Given the description of an element on the screen output the (x, y) to click on. 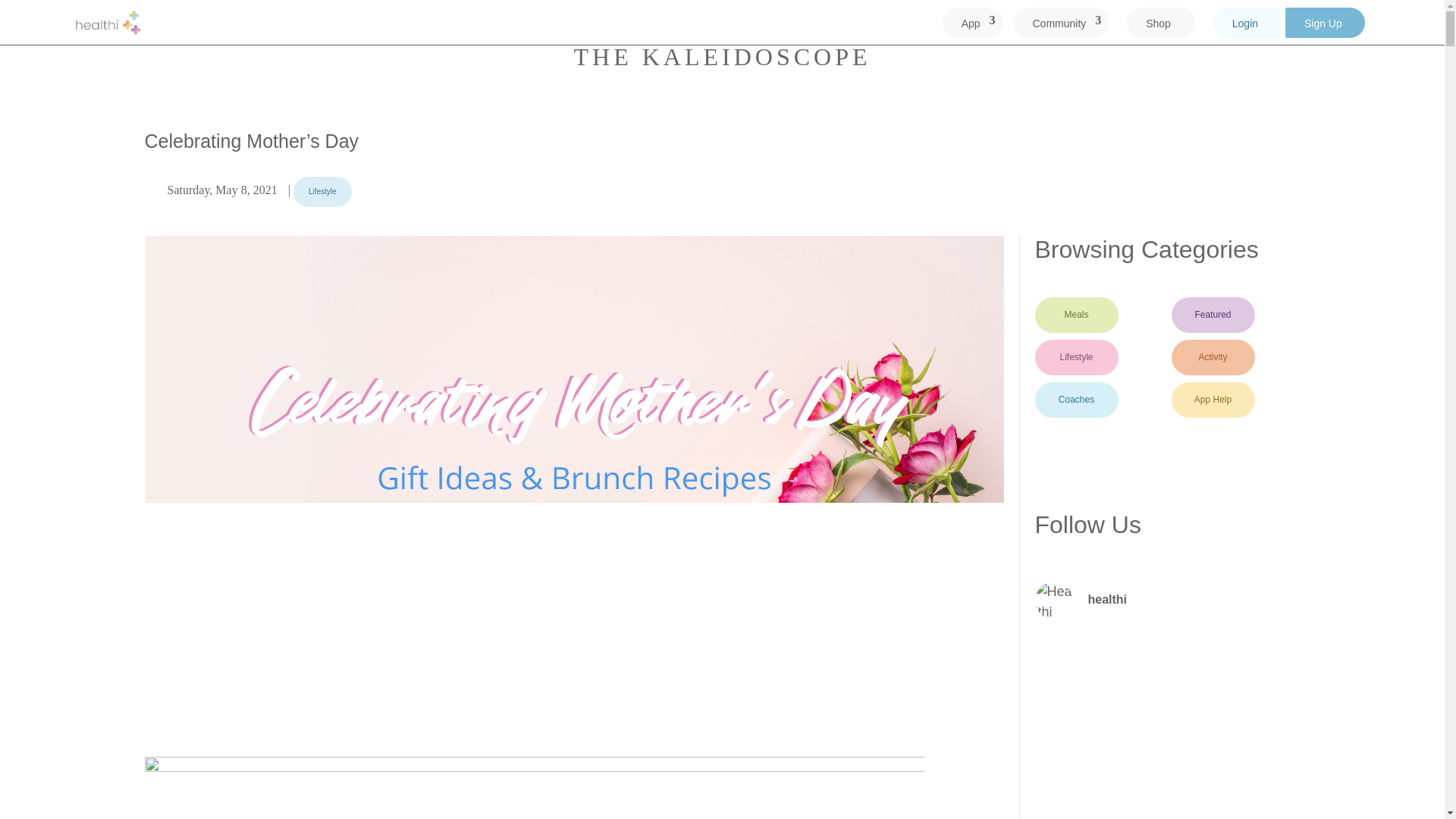
Meals (1075, 314)
Login (1246, 25)
Activity (1211, 357)
App (972, 25)
Coaches (1075, 399)
THE KALEIDOSCOPE (721, 56)
App Help (1211, 399)
Community (1060, 25)
healthi (1170, 600)
Lifestyle (1075, 357)
Lifestyle (323, 191)
Sign Up (1324, 25)
Featured (1211, 314)
Shop (1161, 25)
